Given the description of an element on the screen output the (x, y) to click on. 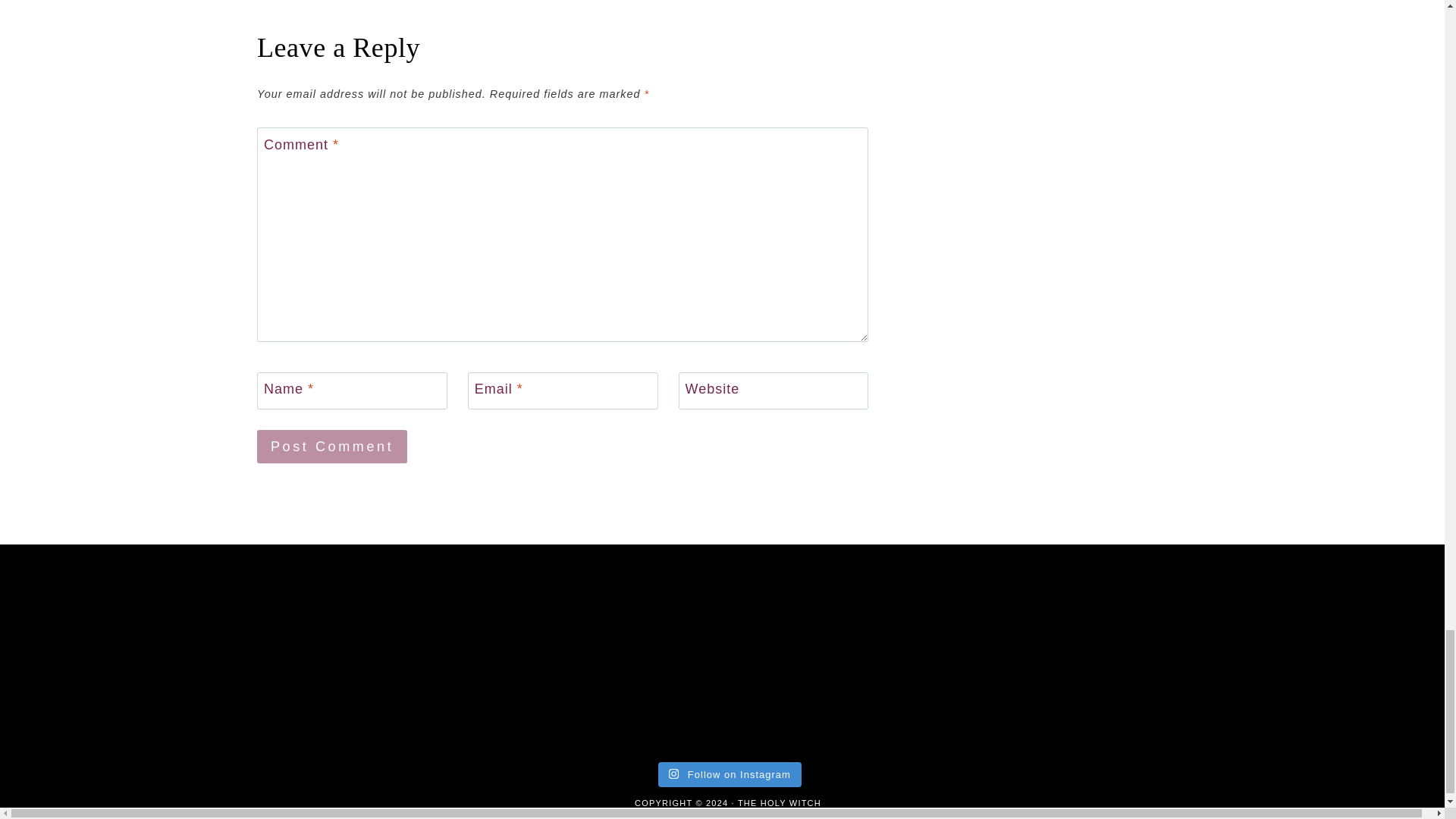
Post Comment (332, 445)
